Given the description of an element on the screen output the (x, y) to click on. 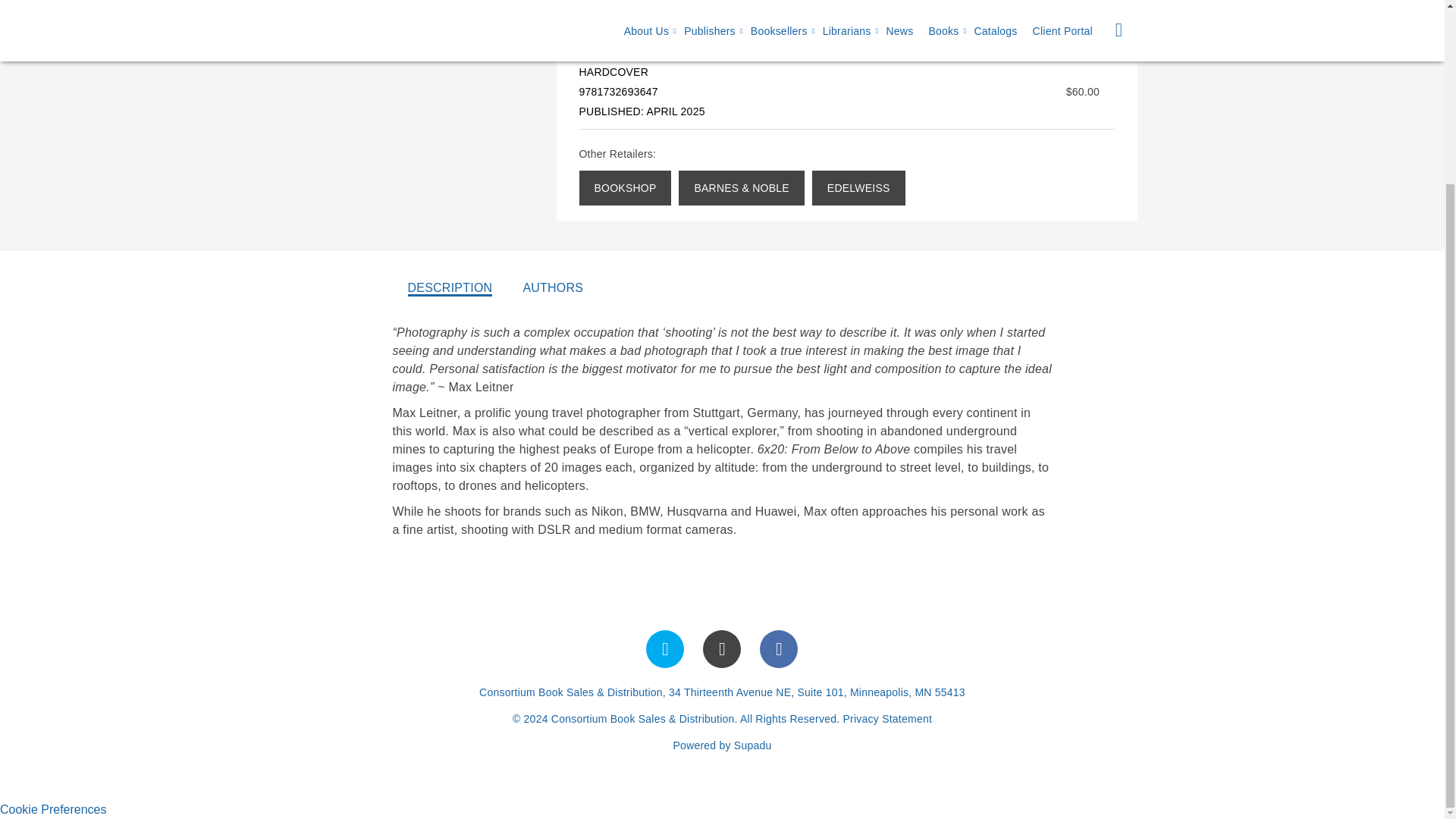
Follow us on Facebook (778, 648)
Bookshop (625, 187)
Follow us on Instagram (722, 648)
Edelweiss (858, 187)
